Given the description of an element on the screen output the (x, y) to click on. 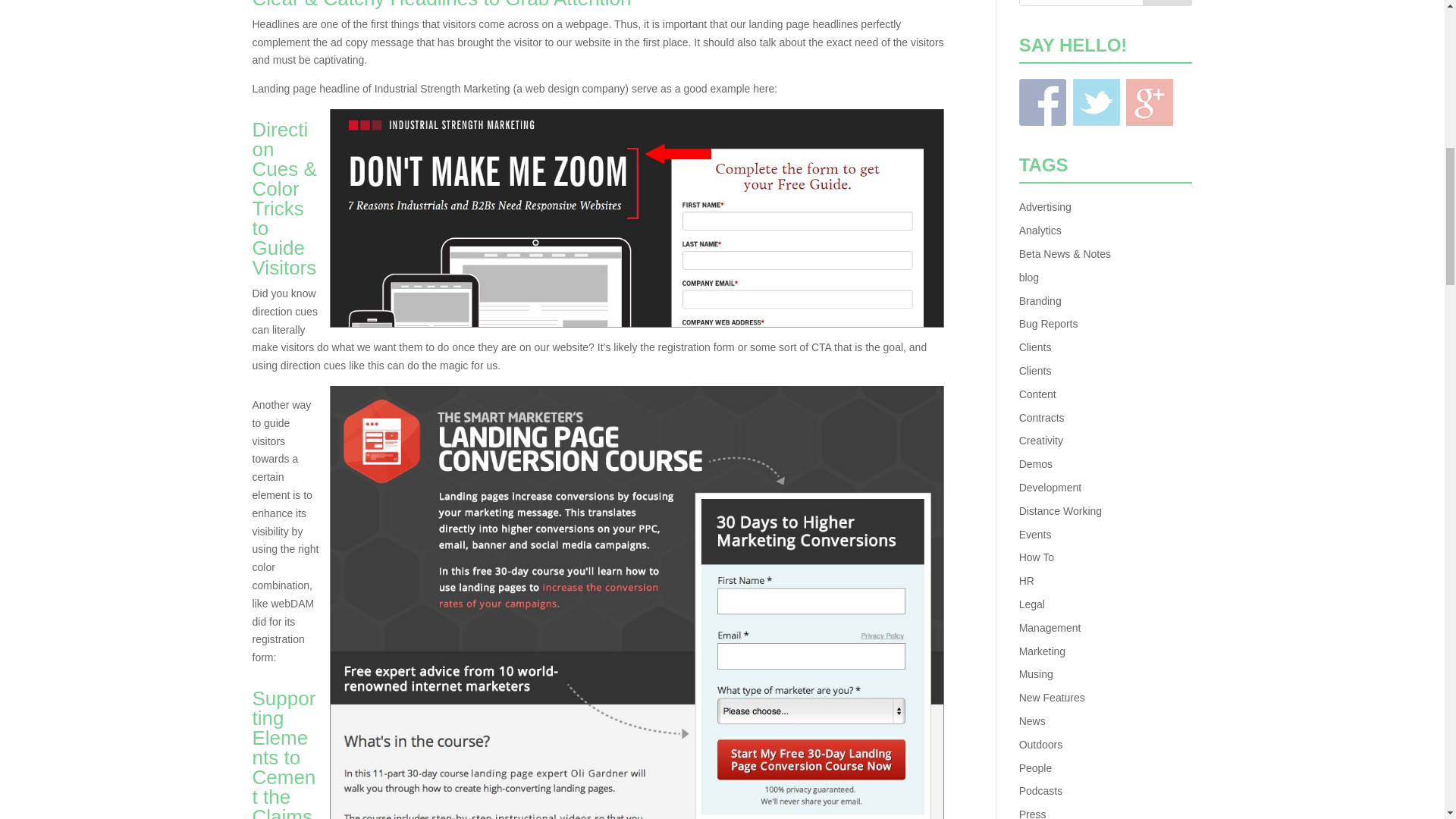
blog (1029, 277)
Analytics (1040, 230)
Search (1167, 2)
Search (1167, 2)
Advertising (1045, 206)
Branding (1040, 300)
Twitter (1096, 102)
Blogger (1149, 102)
Facebook (1042, 102)
